Given the description of an element on the screen output the (x, y) to click on. 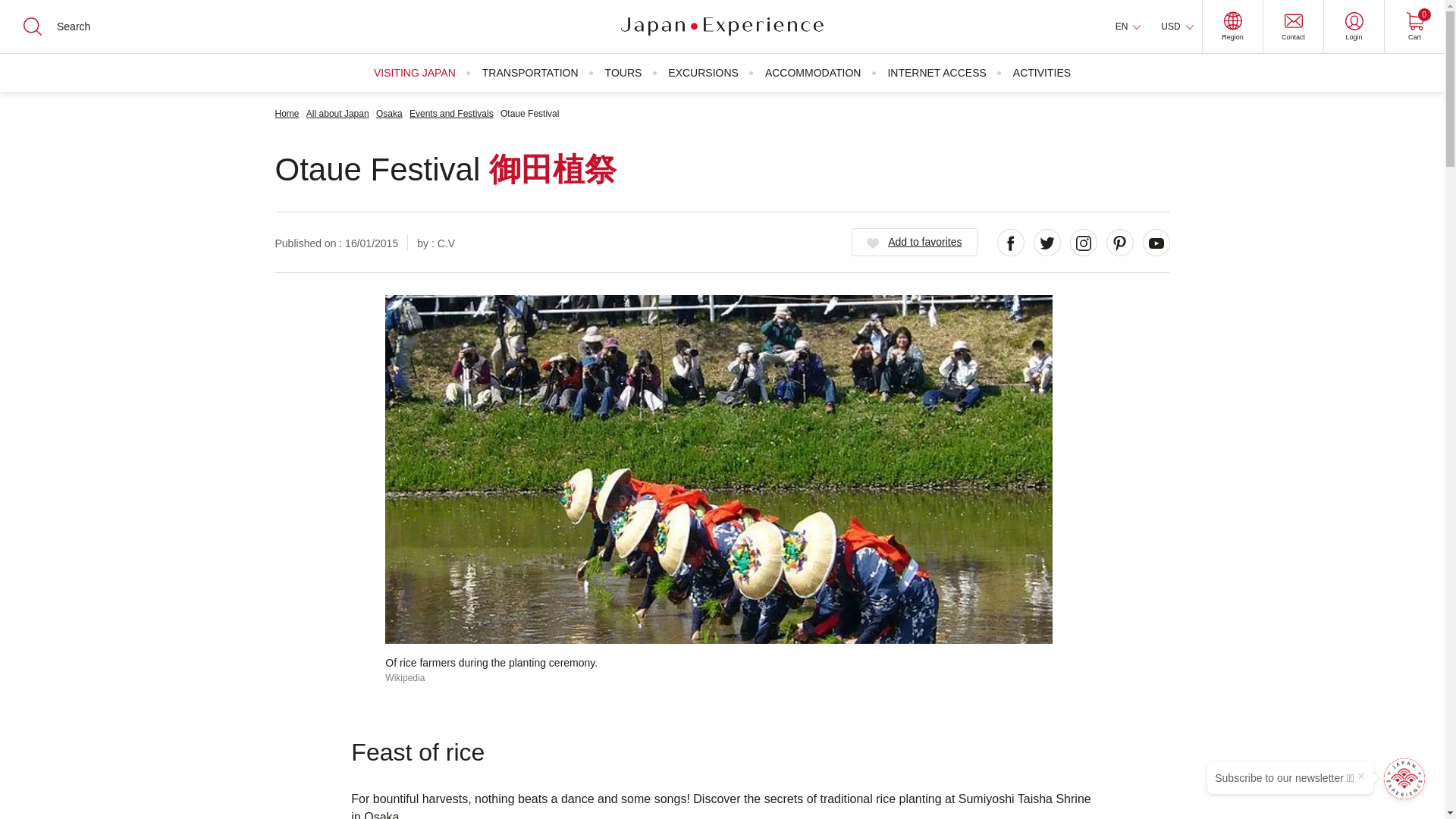
TRANSPORTATION (529, 72)
Region (1232, 26)
Search (23, 12)
VISITING JAPAN (1414, 26)
Skip to main content (414, 72)
Search (7, 7)
Contact (23, 12)
EN (1292, 26)
USD (1128, 26)
Login (1177, 26)
